Given the description of an element on the screen output the (x, y) to click on. 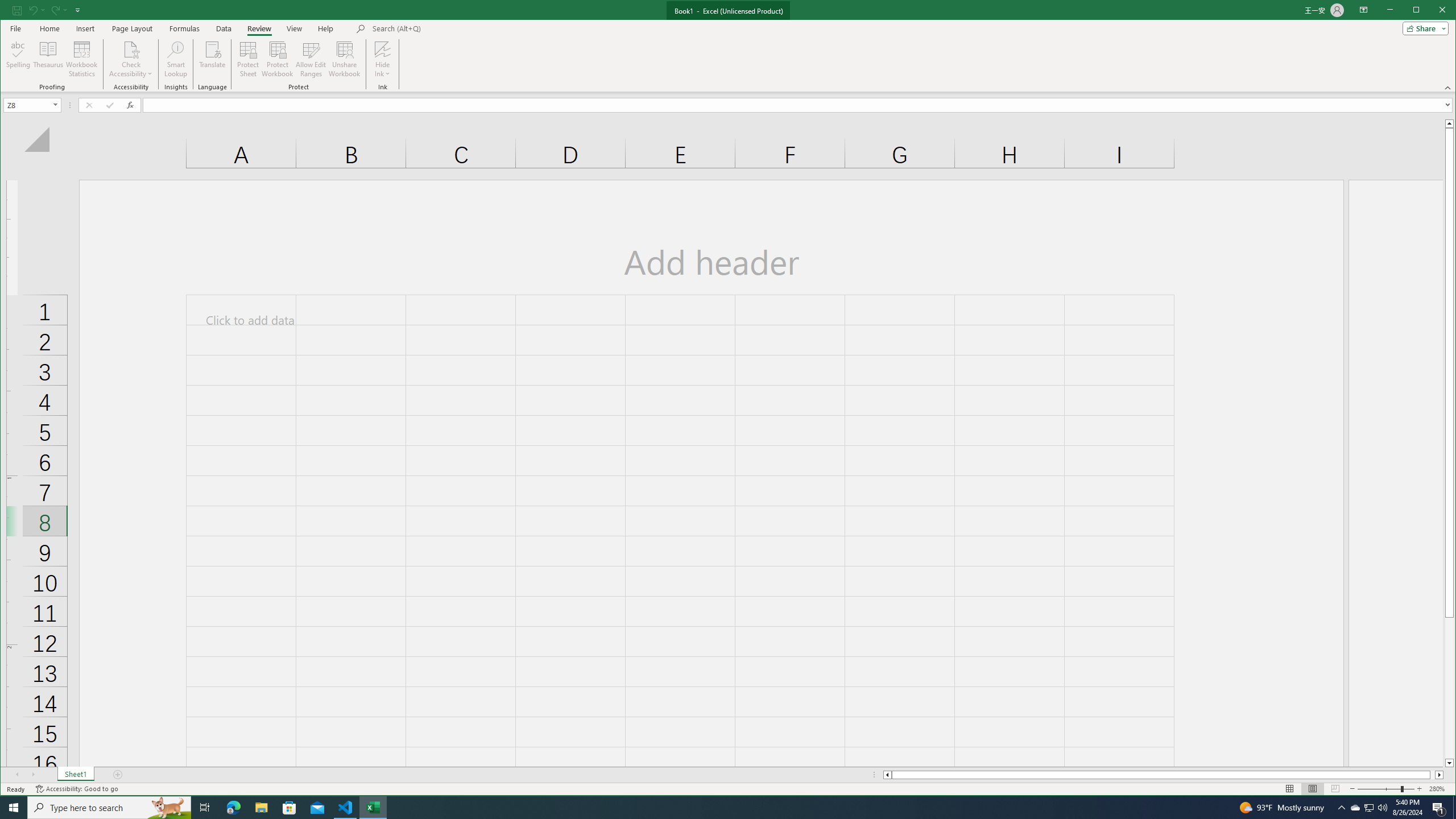
Translate (212, 59)
